Given the description of an element on the screen output the (x, y) to click on. 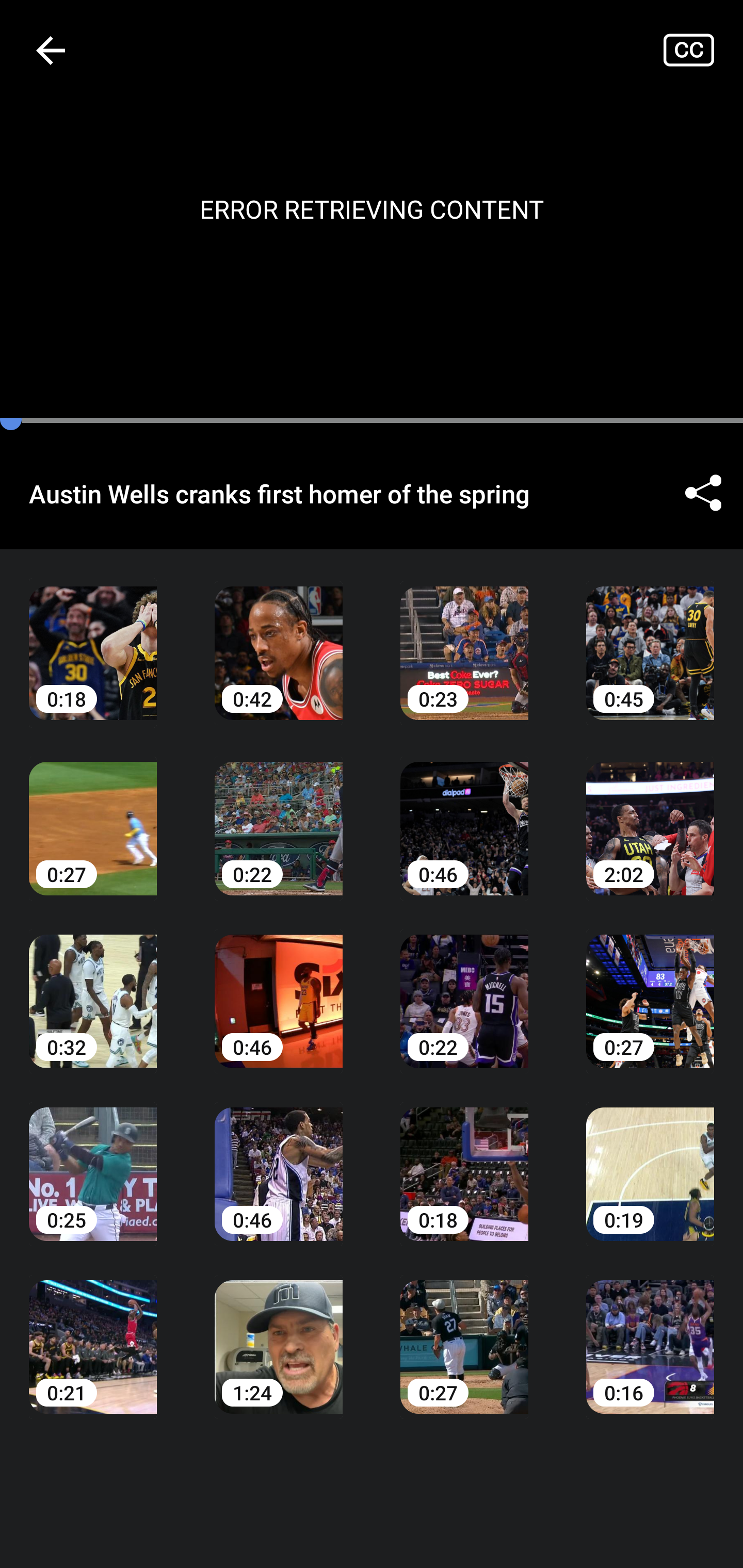
Navigate up (50, 50)
Closed captions  (703, 49)
Share © (703, 493)
0:18 (92, 637)
0:42 (278, 637)
0:23 (464, 637)
0:45 (650, 637)
0:27 (92, 813)
0:22 (278, 813)
0:46 (464, 813)
2:02 (650, 813)
0:32 (92, 987)
0:46 (278, 987)
0:22 (464, 987)
0:27 (650, 987)
0:25 (92, 1160)
0:46 (278, 1160)
0:18 (464, 1160)
0:19 (650, 1160)
0:21 (92, 1332)
1:24 (278, 1332)
0:27 (464, 1332)
0:16 (650, 1332)
